Given the description of an element on the screen output the (x, y) to click on. 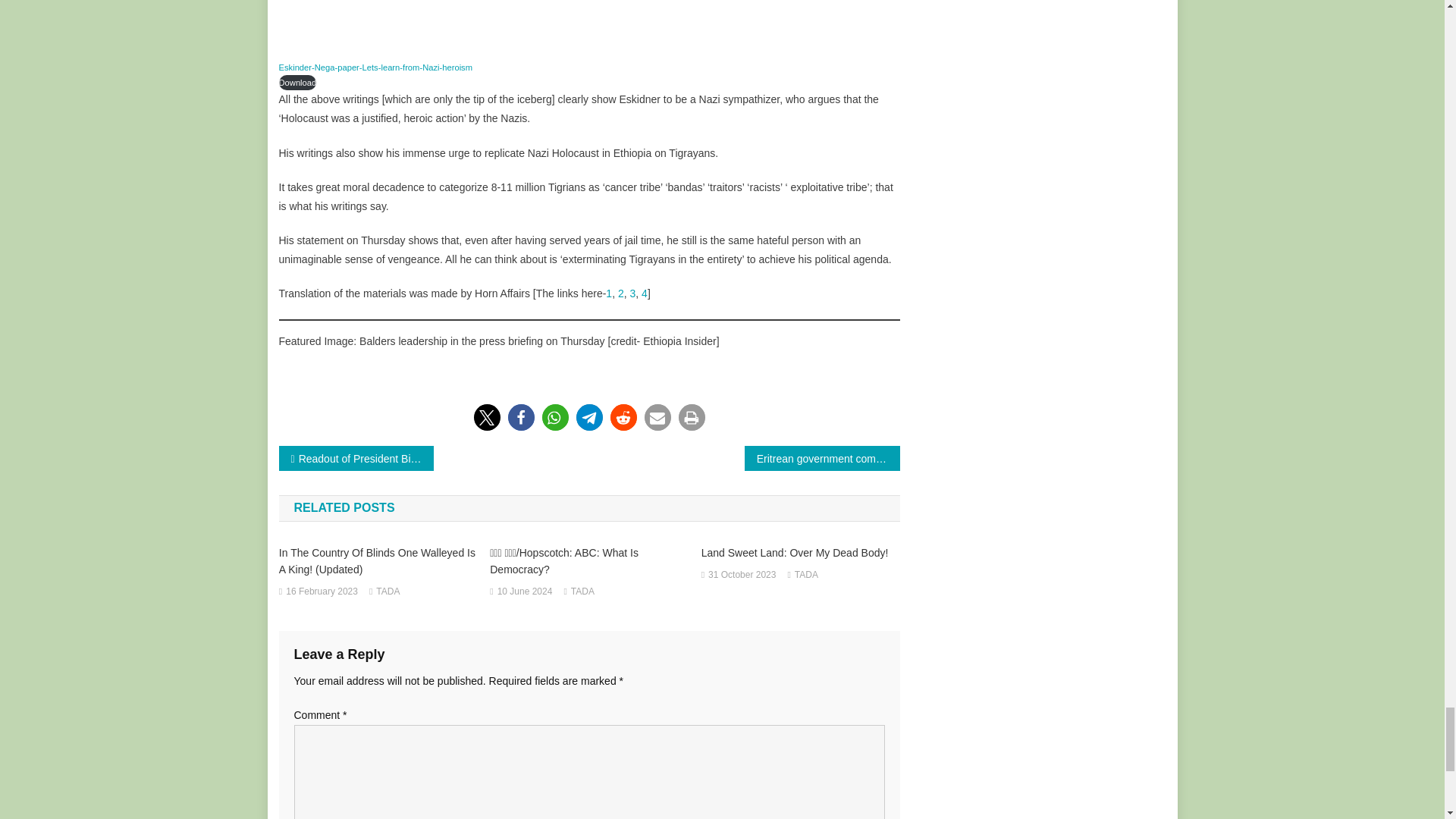
Share on Telegram (589, 417)
2 (620, 293)
4 (644, 293)
Download (298, 82)
Share on X (486, 417)
print (691, 417)
Eskinder-Nega-paper-Lets-learn-from-Nazi-heroism (376, 67)
Share on Whatsapp (554, 417)
Share on Reddit (623, 417)
1 (608, 293)
3 (633, 293)
Send by email (658, 417)
Share on Facebook (521, 417)
